Given the description of an element on the screen output the (x, y) to click on. 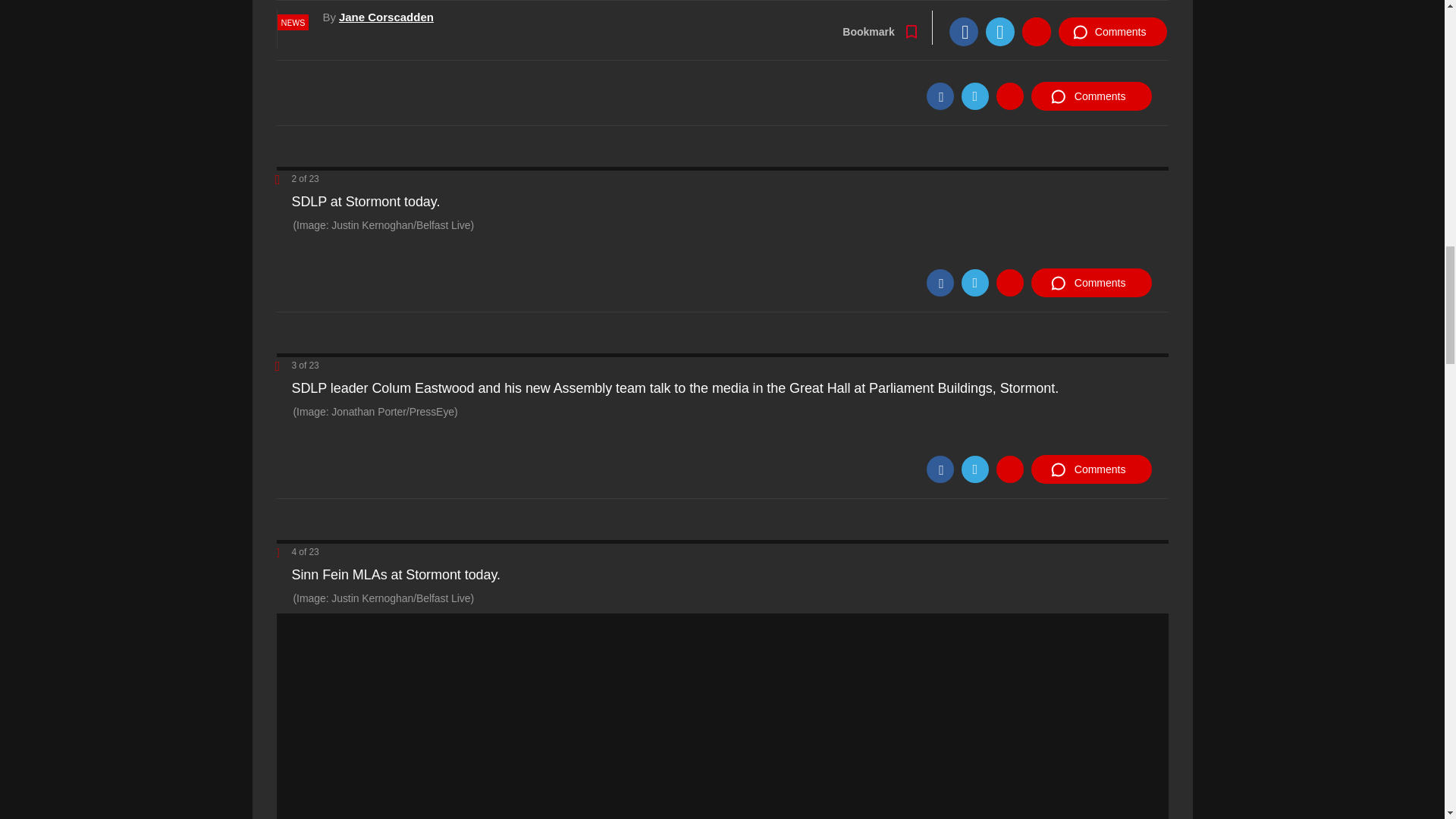
Facebook (939, 95)
Comments (1090, 469)
Facebook (939, 469)
Facebook (939, 282)
Twitter (974, 95)
Comments (1090, 95)
Twitter (974, 469)
Twitter (974, 282)
Comments (1090, 282)
